Given the description of an element on the screen output the (x, y) to click on. 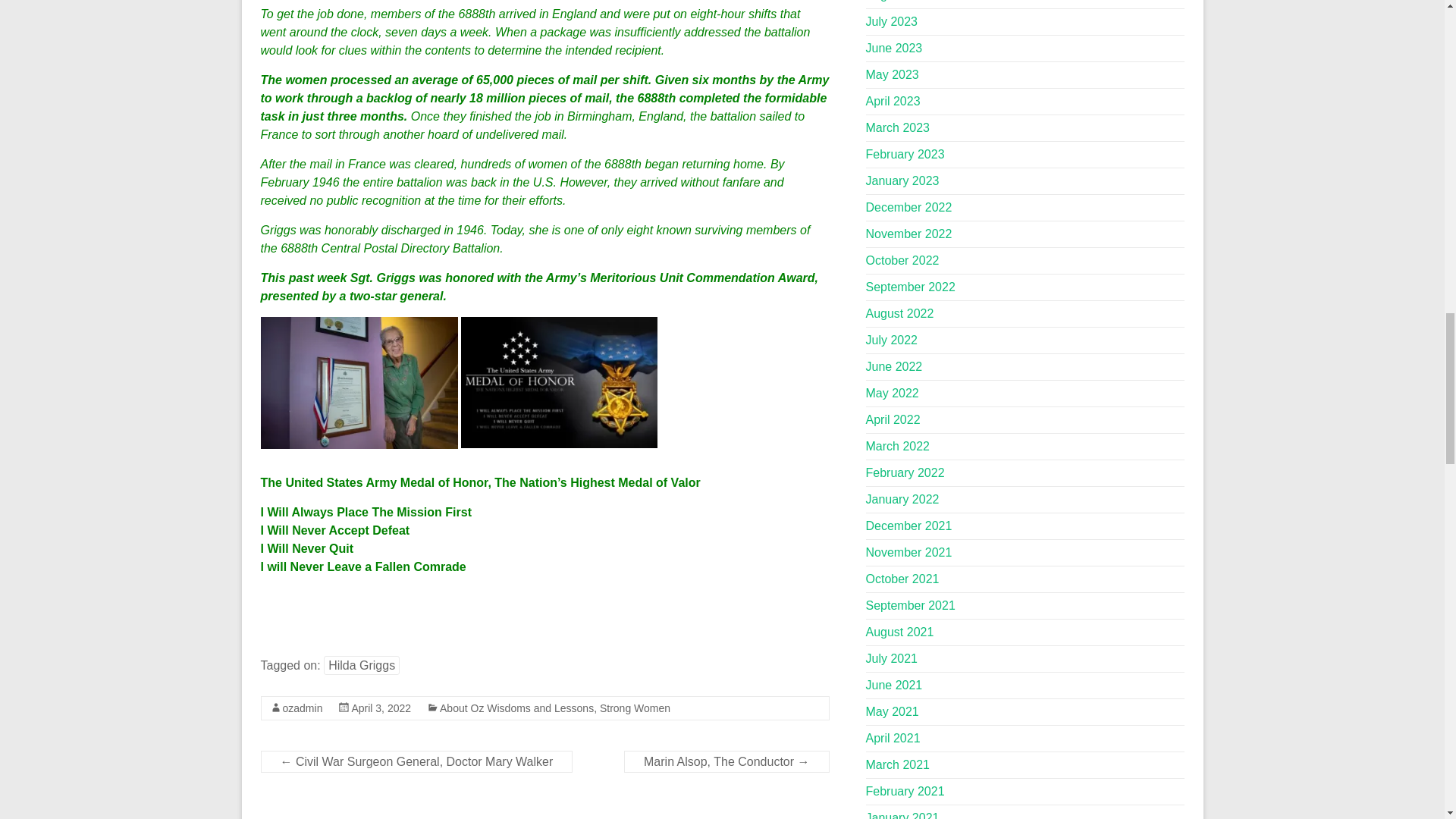
Strong Women (634, 707)
ozadmin (301, 707)
Hilda Griggs (360, 665)
1:04 pm (380, 707)
About Oz Wisdoms and Lessons (516, 707)
April 3, 2022 (380, 707)
